Given the description of an element on the screen output the (x, y) to click on. 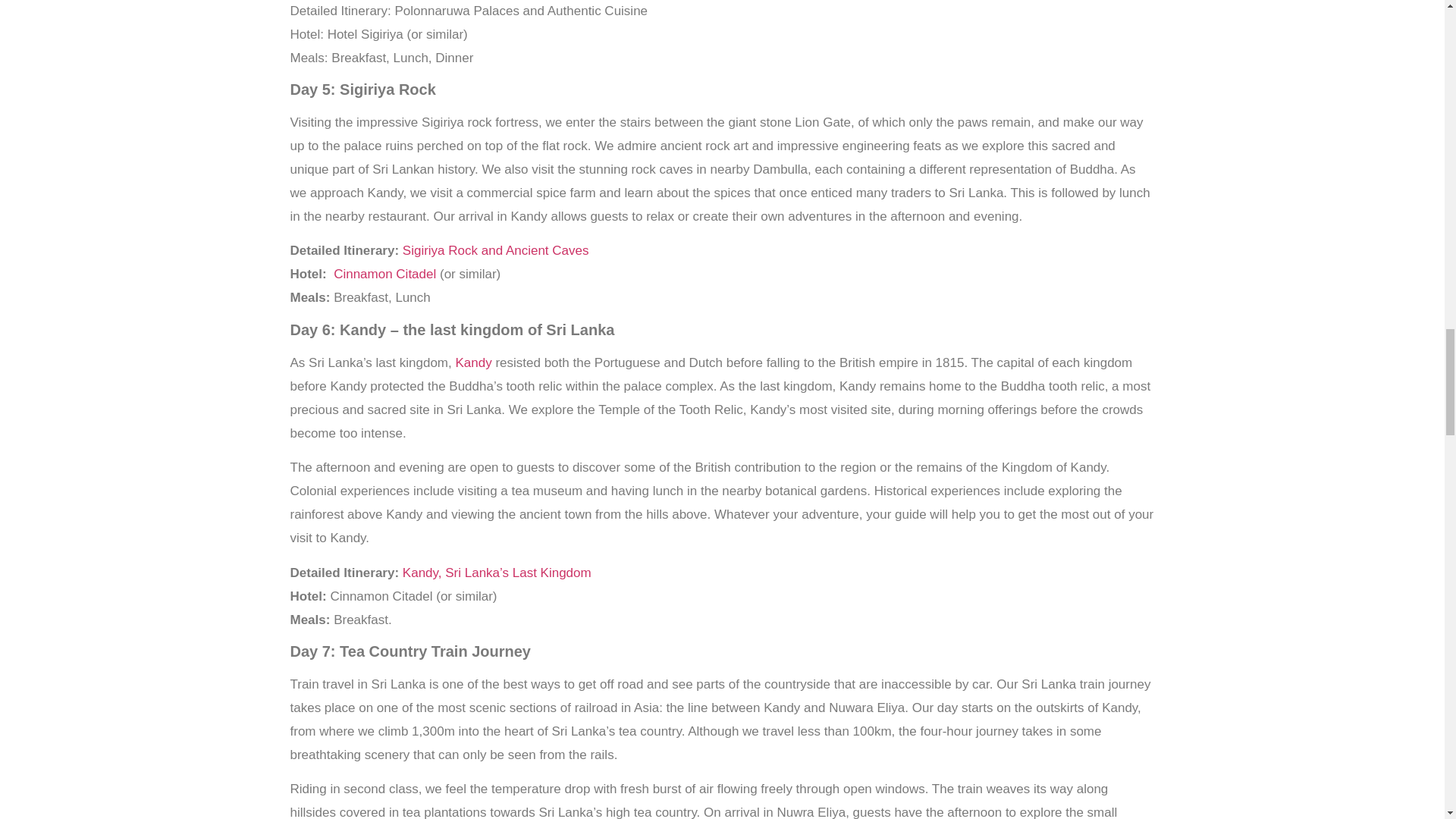
Cinnamon Citadel (386, 273)
Kandy (473, 362)
Sigiriya Rock and Ancient Caves (496, 250)
